Given the description of an element on the screen output the (x, y) to click on. 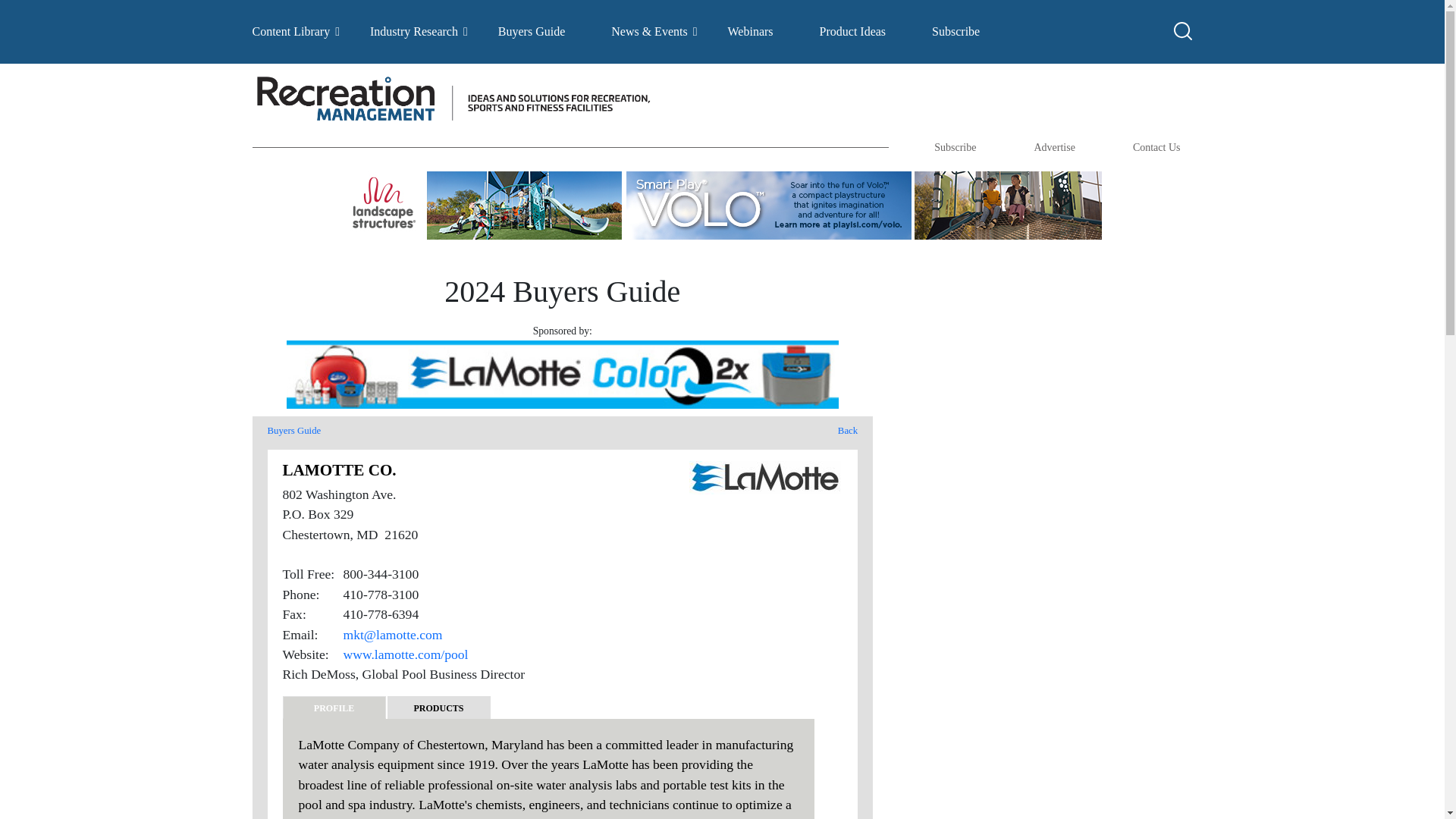
Back (847, 431)
Industry Research (413, 31)
Buyers Guide (530, 31)
Subscribe (954, 147)
Content Library (290, 31)
PRODUCTS (438, 708)
Advertise (1053, 147)
Buyers Guide (293, 430)
PROFILE (333, 708)
3rd party ad content (1034, 795)
LaMotte - ColorQ 2x (562, 374)
Contact Us (1156, 147)
Product Ideas (852, 31)
Webinars (750, 31)
Subscribe (955, 31)
